Given the description of an element on the screen output the (x, y) to click on. 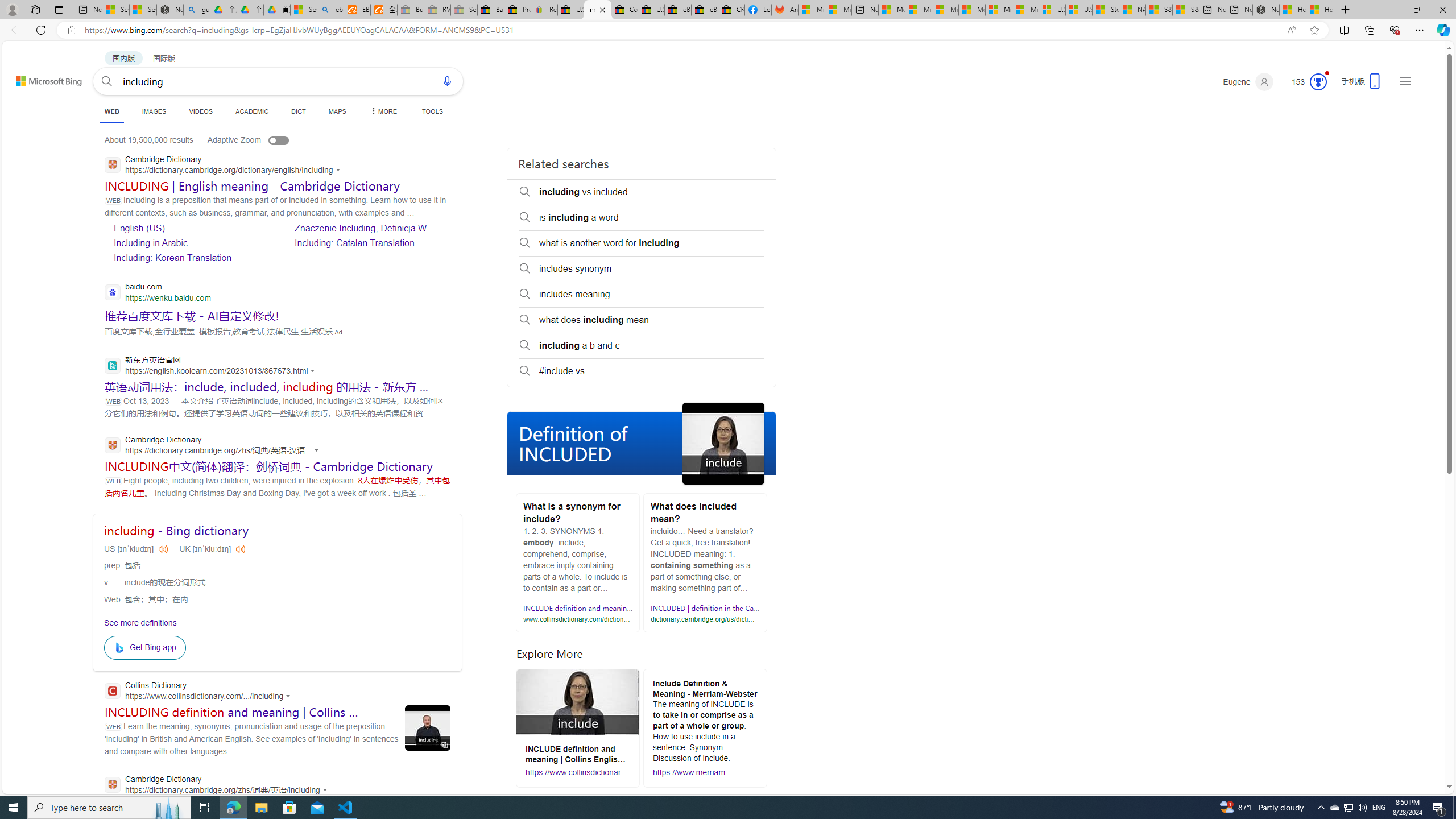
including - Search (597, 9)
IMAGES (153, 111)
Class: dictIcon rms_img (240, 548)
DICT (298, 111)
Including: Korean Translation (172, 257)
Eugene (1248, 81)
ACADEMIC (252, 111)
SERP,5486 (191, 314)
including - Bing dictionary (175, 530)
Including: Korean Translation (191, 256)
